Given the description of an element on the screen output the (x, y) to click on. 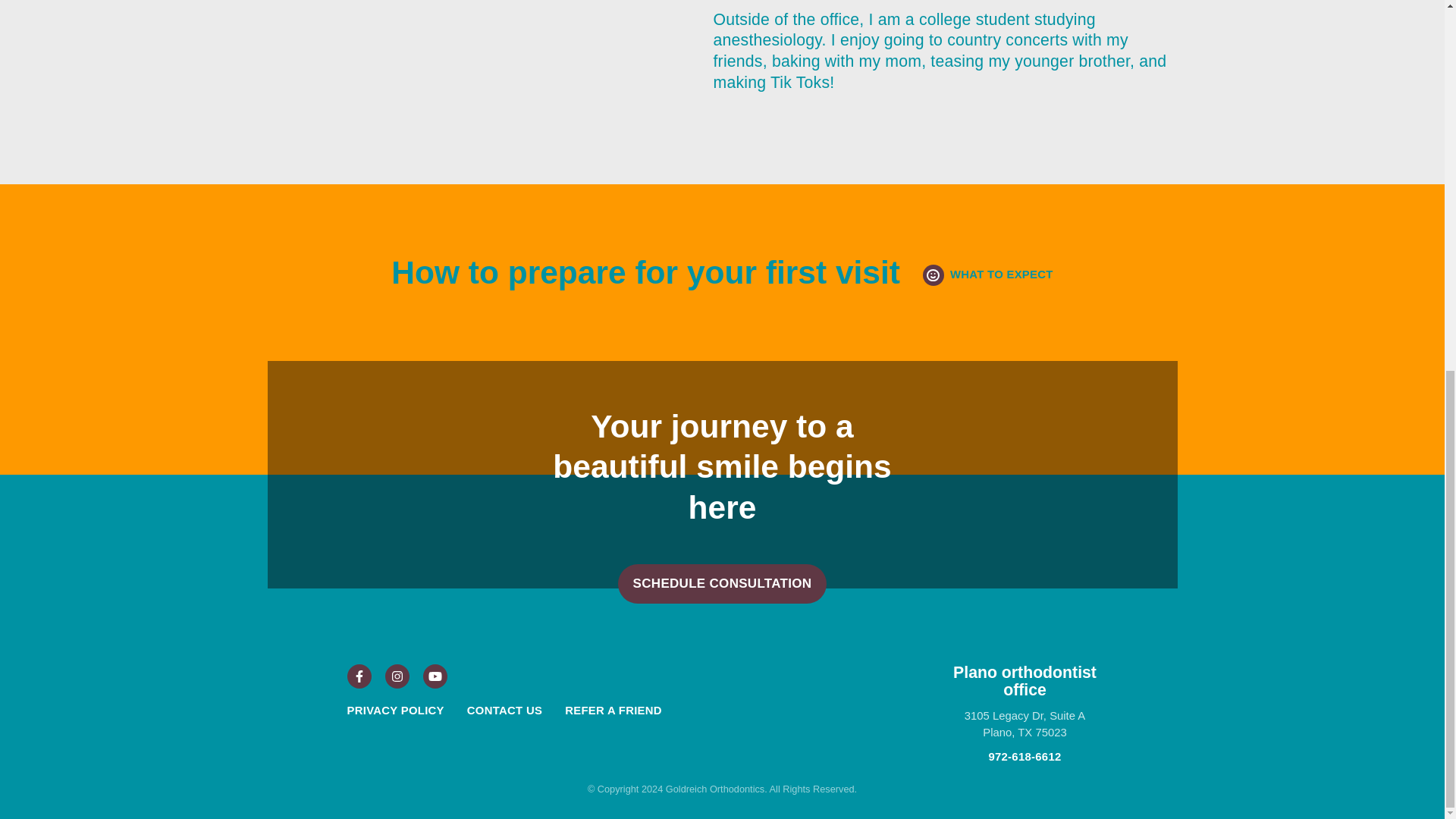
PRIVACY POLICY (395, 710)
REFER A FRIEND (613, 710)
WHAT TO EXPECT (987, 274)
SCHEDULE CONSULTATION (722, 583)
CONTACT US (504, 710)
972-618-6612 (1024, 756)
